Given the description of an element on the screen output the (x, y) to click on. 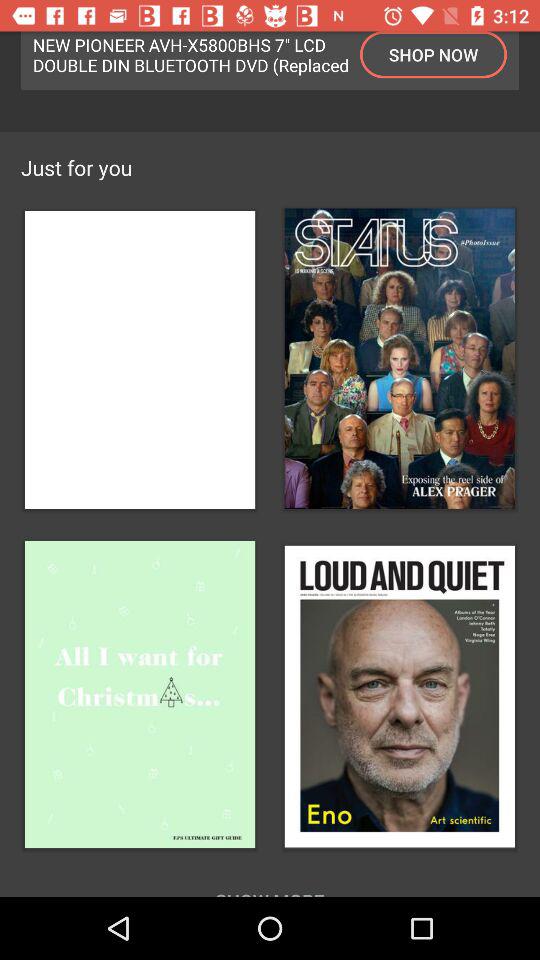
tap the icon to the left of shop now item (191, 54)
